Given the description of an element on the screen output the (x, y) to click on. 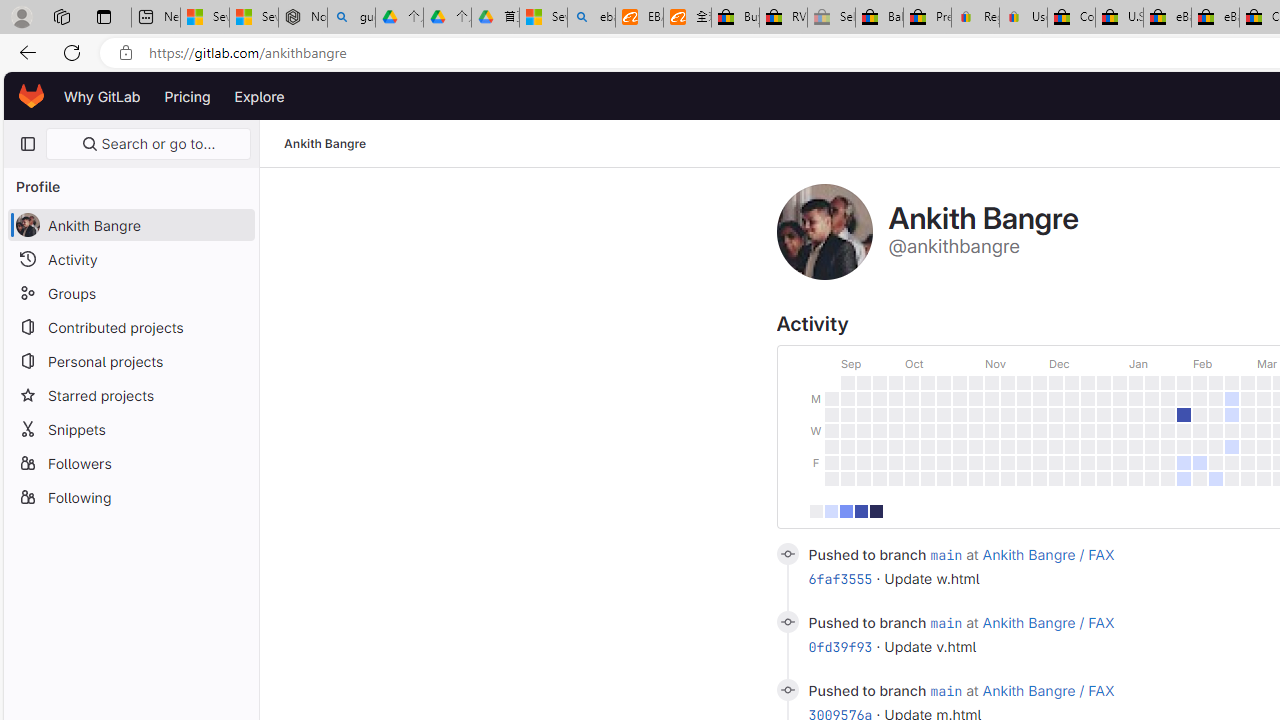
User profile picture (823, 232)
Pricing (187, 95)
Back (24, 52)
10-19 contributions (845, 510)
